Given the description of an element on the screen output the (x, y) to click on. 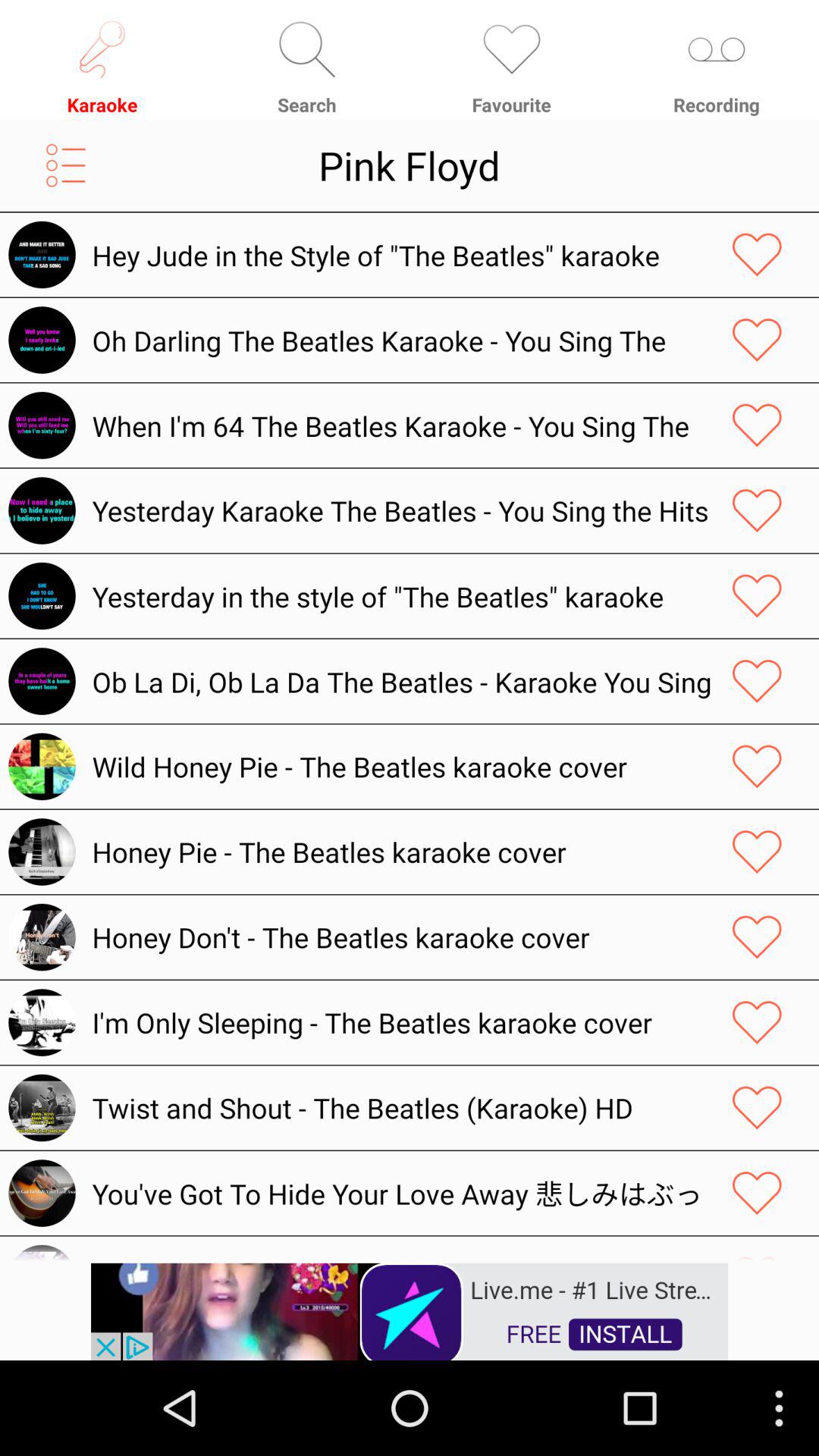
favorite song (756, 851)
